Given the description of an element on the screen output the (x, y) to click on. 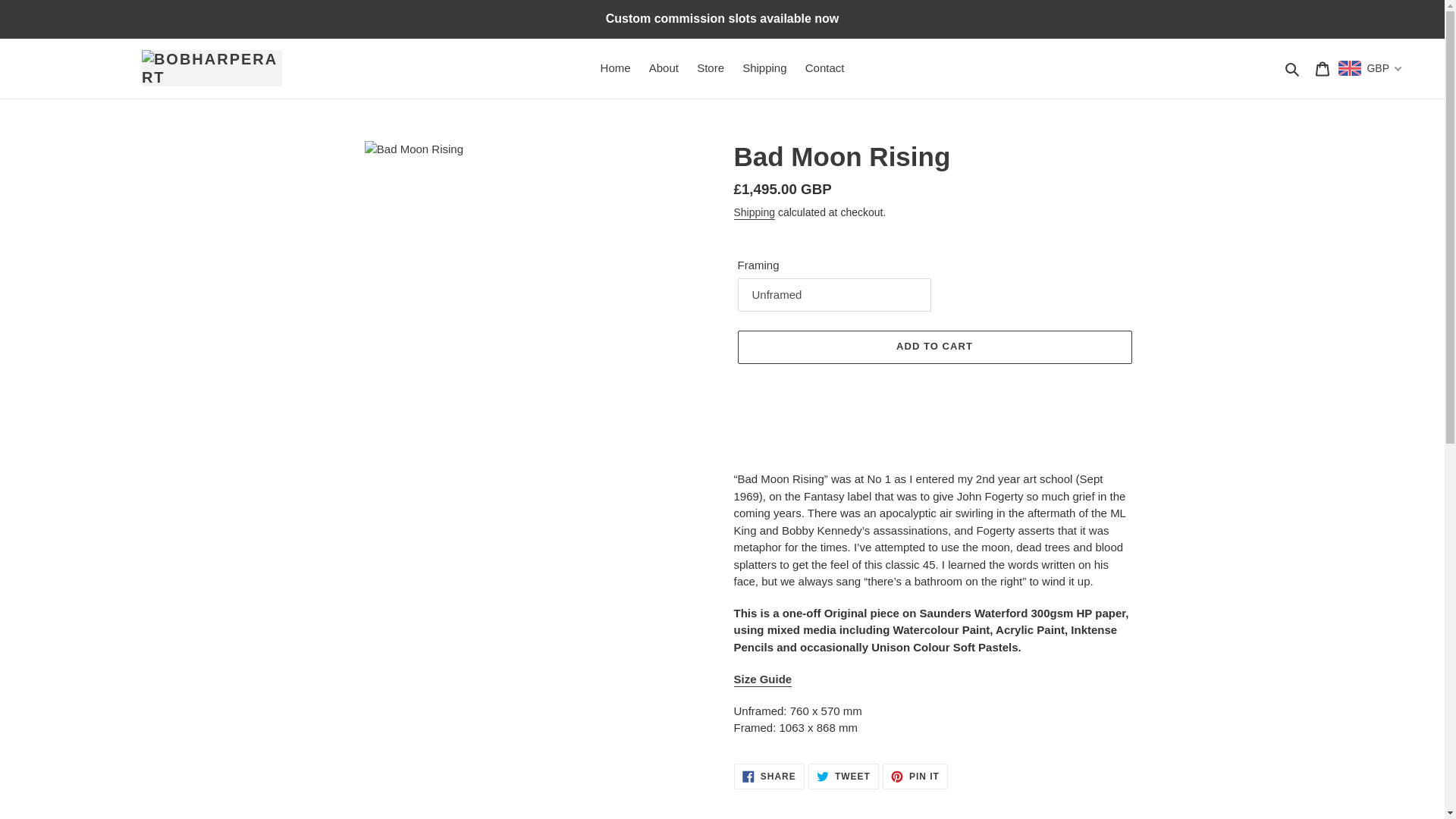
Size Guide (762, 679)
Home (615, 68)
Contact (824, 68)
Store (710, 68)
Cart (1322, 68)
Shipping (764, 68)
ADD TO CART (933, 346)
Size Guide (762, 679)
Search (1292, 67)
